Given the description of an element on the screen output the (x, y) to click on. 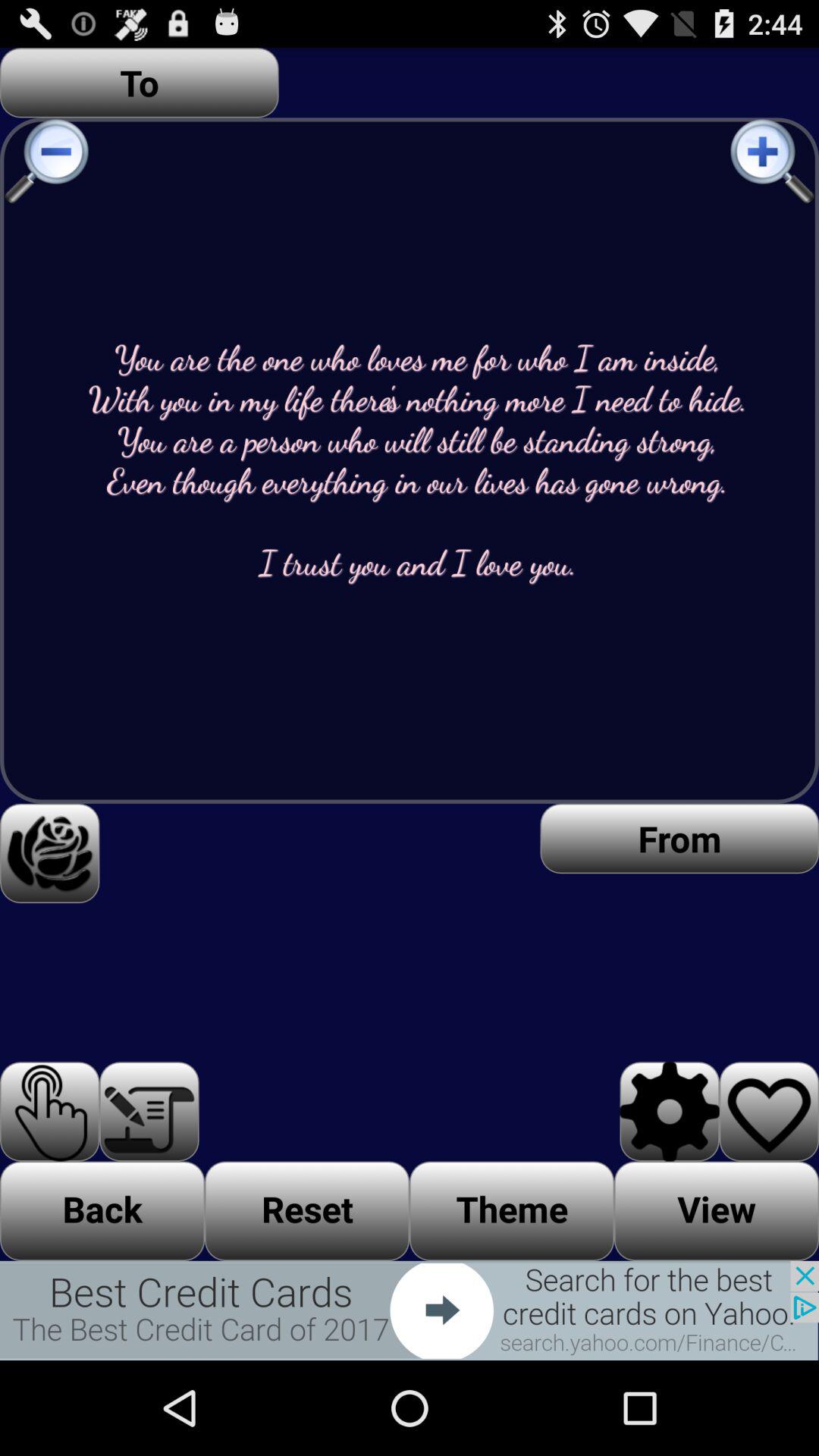
advertisement link (409, 1310)
